Given the description of an element on the screen output the (x, y) to click on. 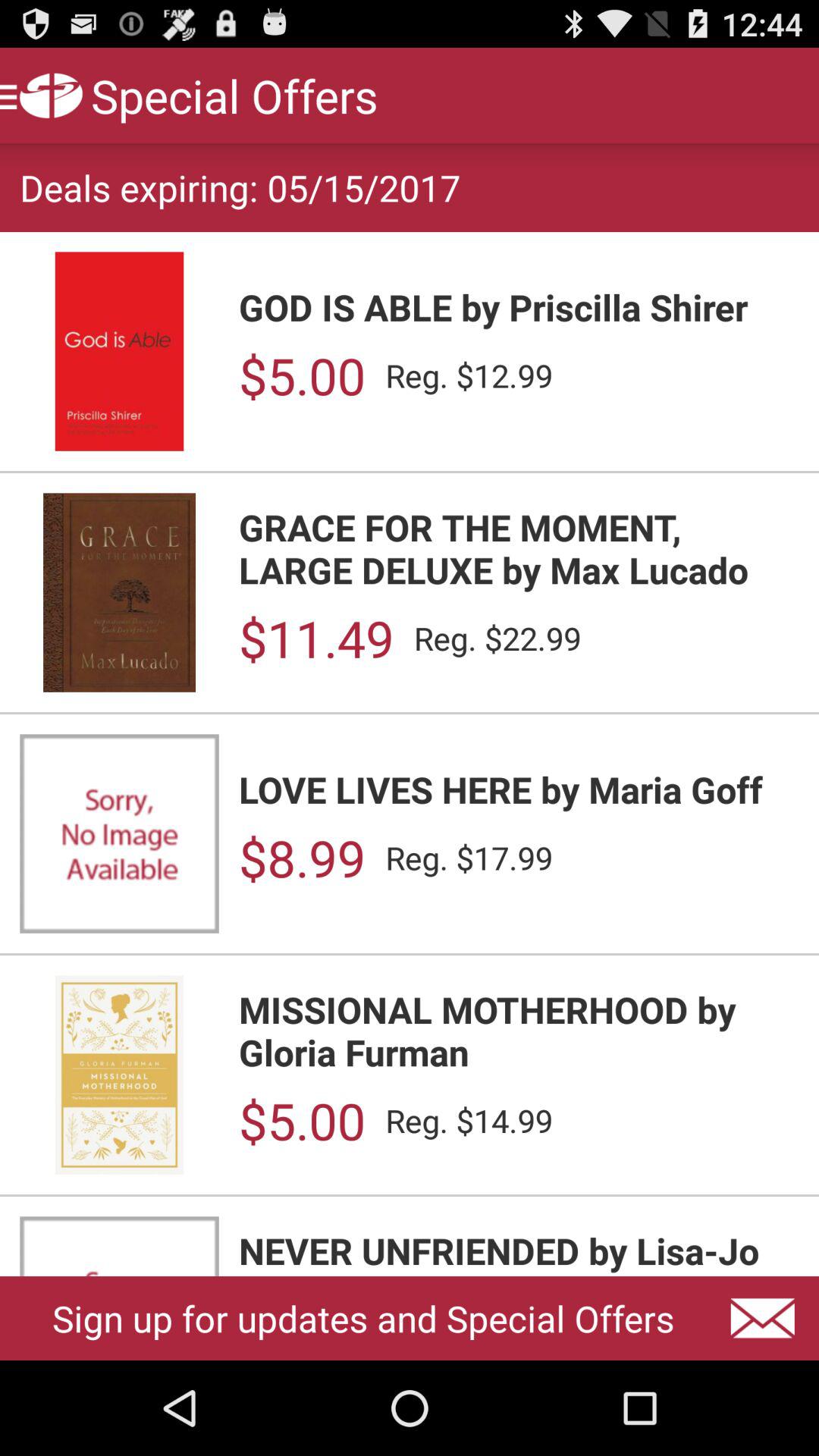
select bottom right symbol (762, 1319)
